Given the description of an element on the screen output the (x, y) to click on. 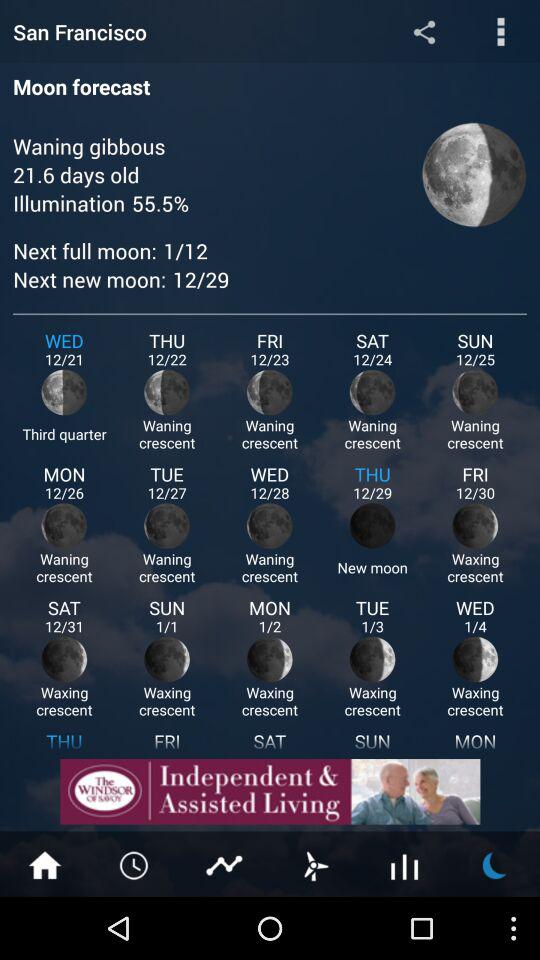
night mode (495, 864)
